Given the description of an element on the screen output the (x, y) to click on. 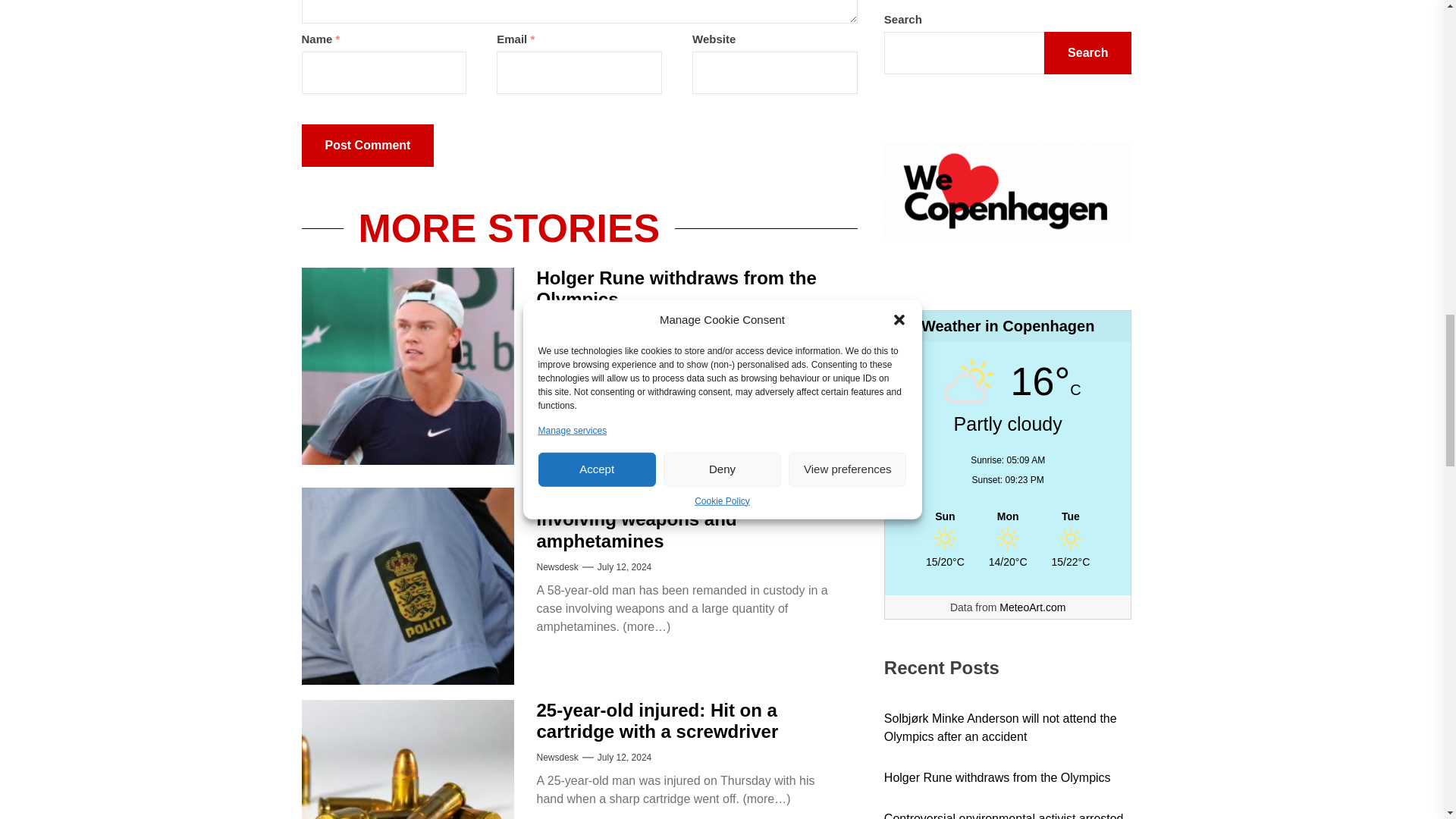
Post Comment (367, 145)
